Given the description of an element on the screen output the (x, y) to click on. 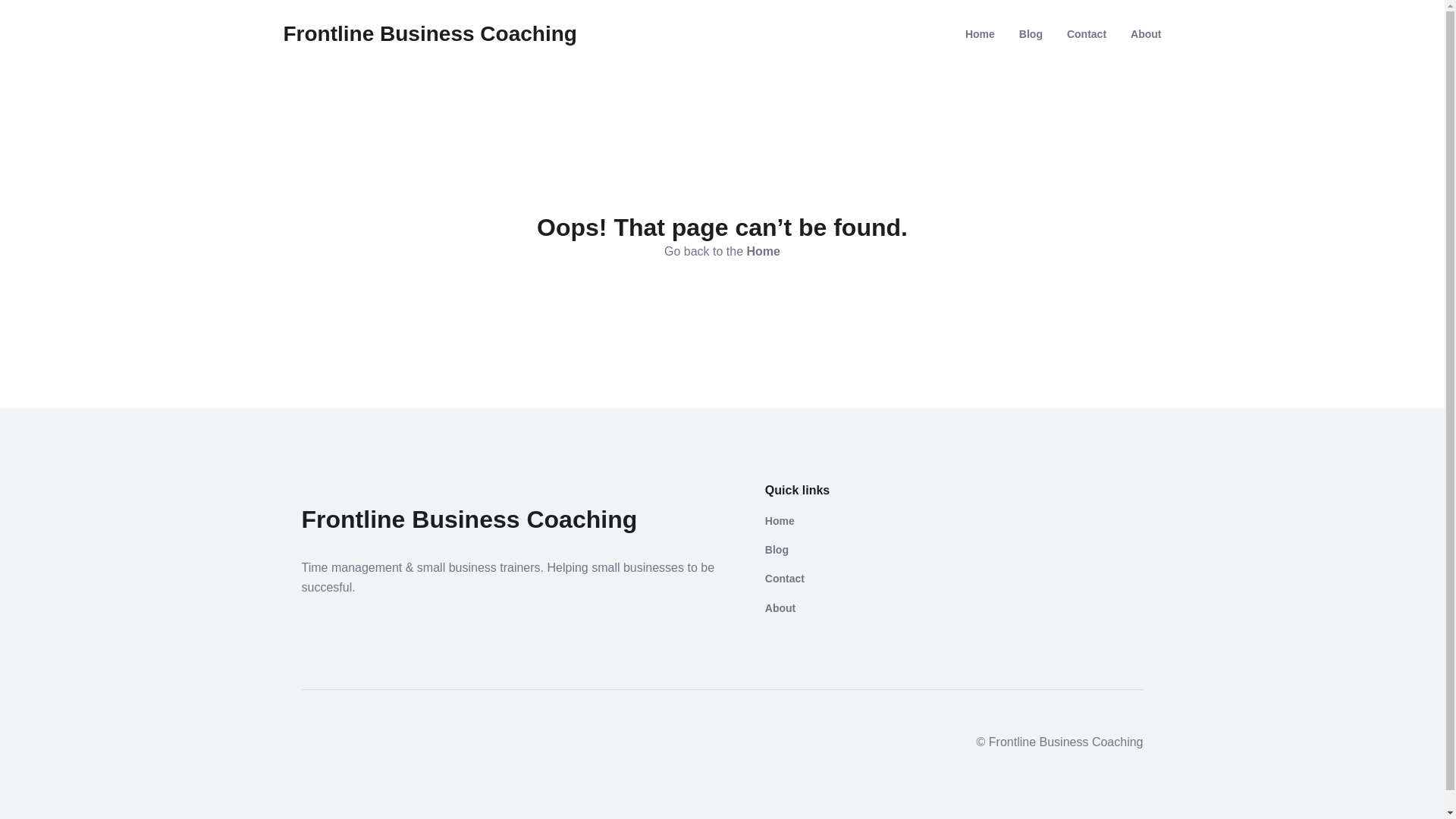
Home Element type: text (763, 250)
Blog Element type: text (850, 549)
Home Element type: text (850, 520)
Frontline Business Coaching Element type: text (430, 34)
Blog Element type: text (1030, 34)
About Element type: text (1145, 34)
Contact Element type: text (850, 578)
About Element type: text (850, 607)
Contact Element type: text (1086, 34)
Home Element type: text (979, 34)
